Given the description of an element on the screen output the (x, y) to click on. 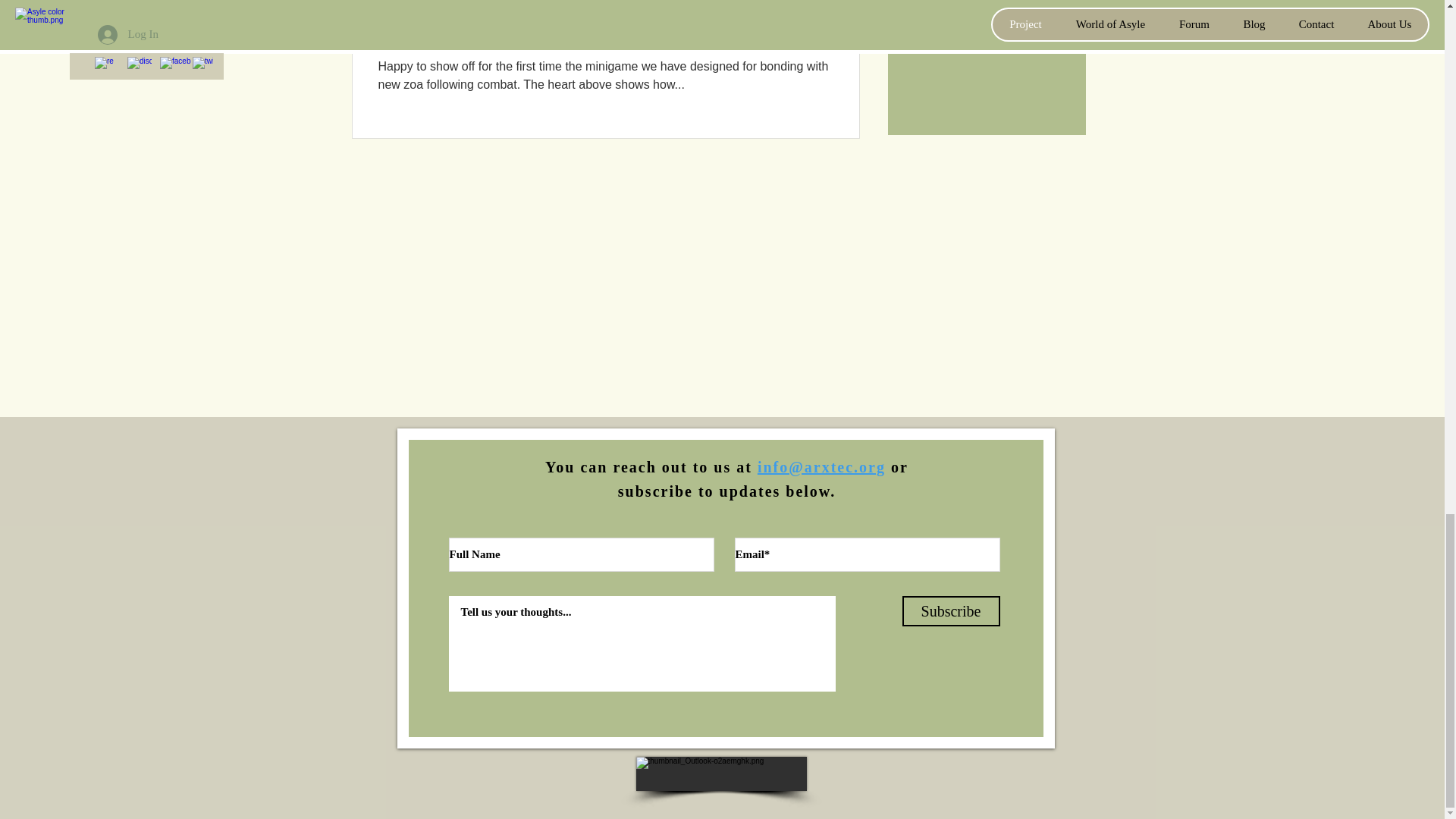
Subscribe (951, 611)
Development - Tech (420, 7)
Calming Companions (604, 40)
